Given the description of an element on the screen output the (x, y) to click on. 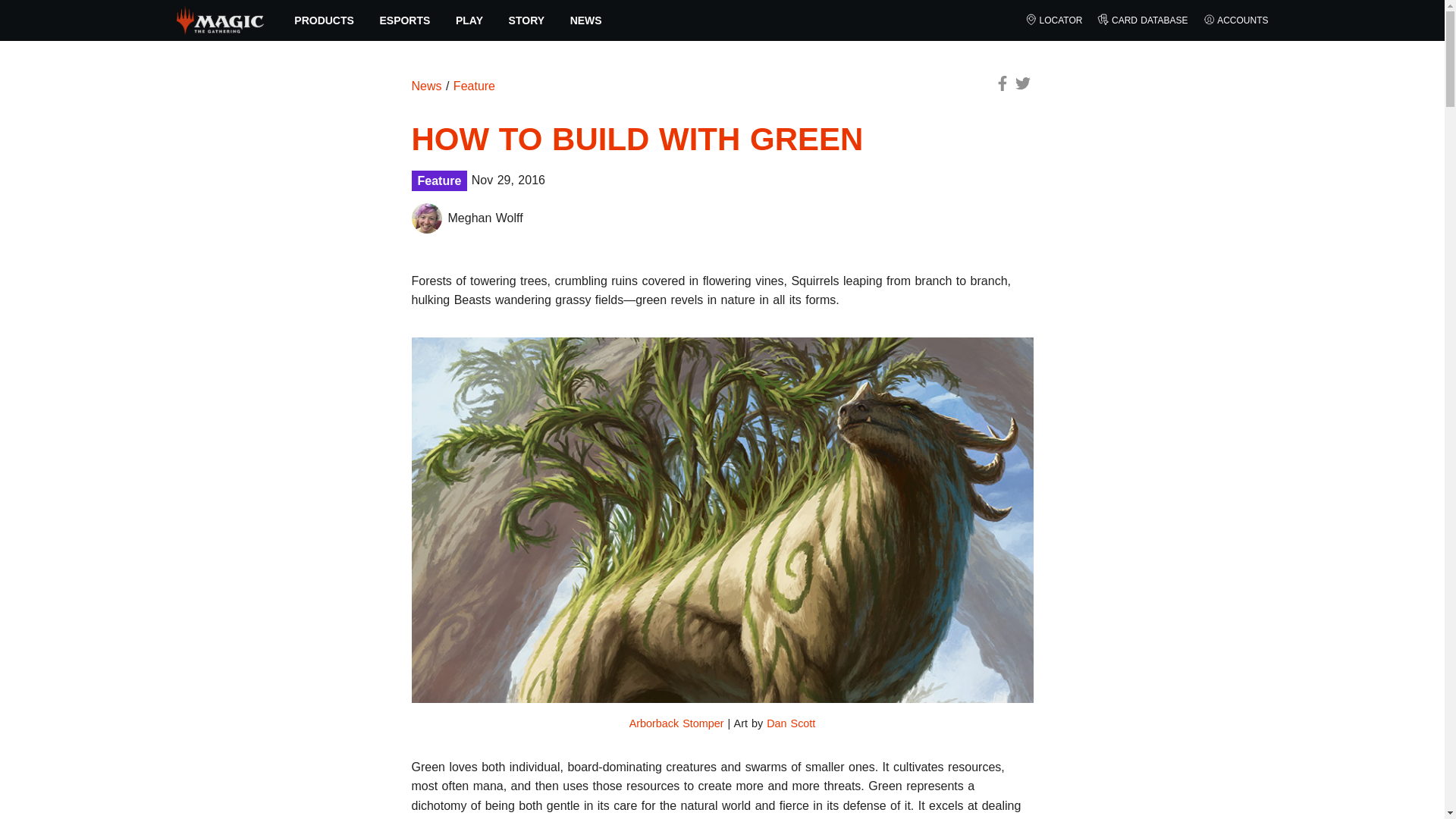
PLAY (469, 20)
PRODUCTS (324, 20)
ESPORTS (405, 20)
